Given the description of an element on the screen output the (x, y) to click on. 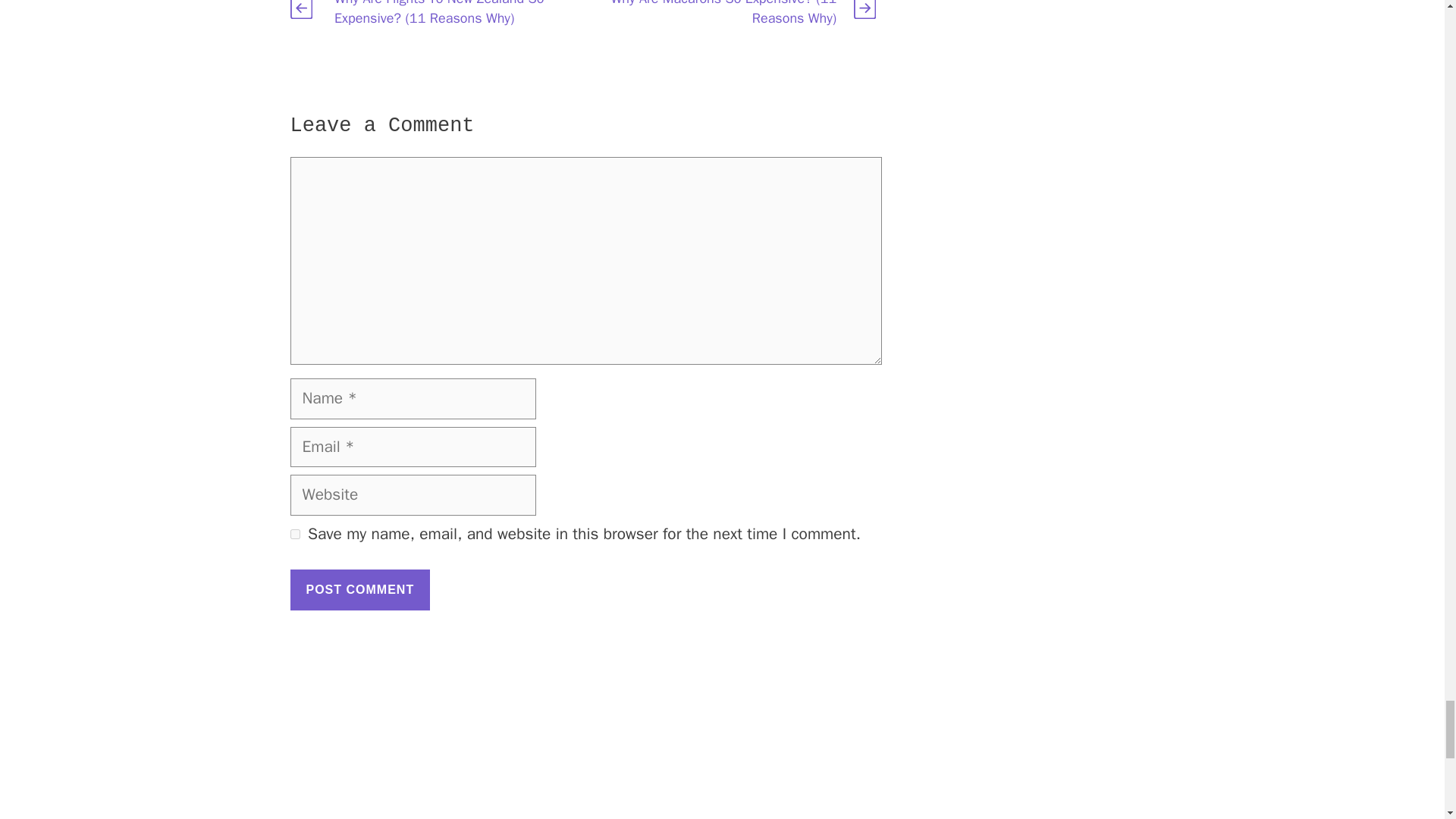
yes (294, 533)
Post Comment (359, 589)
